Given the description of an element on the screen output the (x, y) to click on. 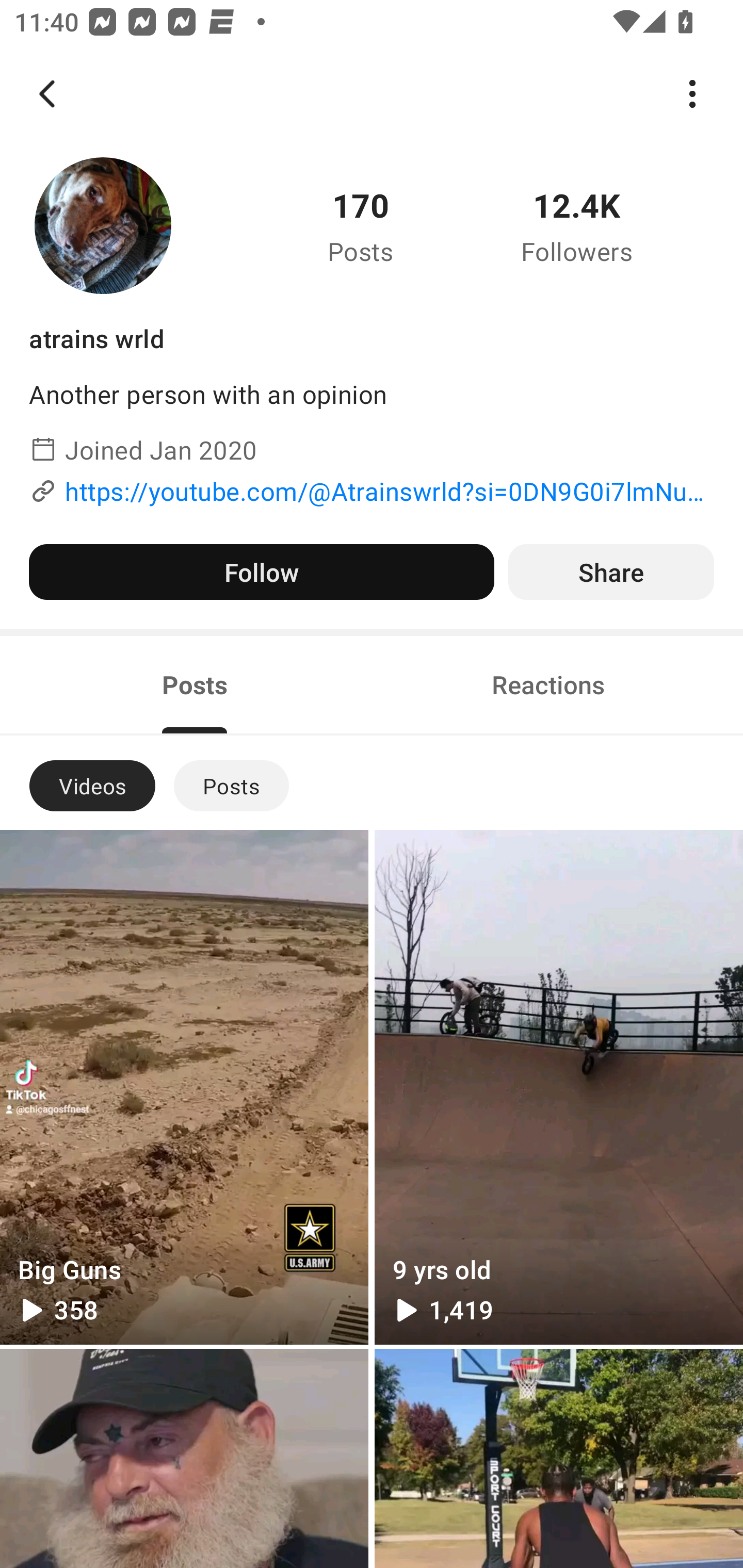
Follow (261, 572)
Share (611, 572)
Reactions (548, 684)
Posts (231, 785)
Big Guns 358 (184, 1087)
9 yrs old  1,419 (558, 1087)
